Given the description of an element on the screen output the (x, y) to click on. 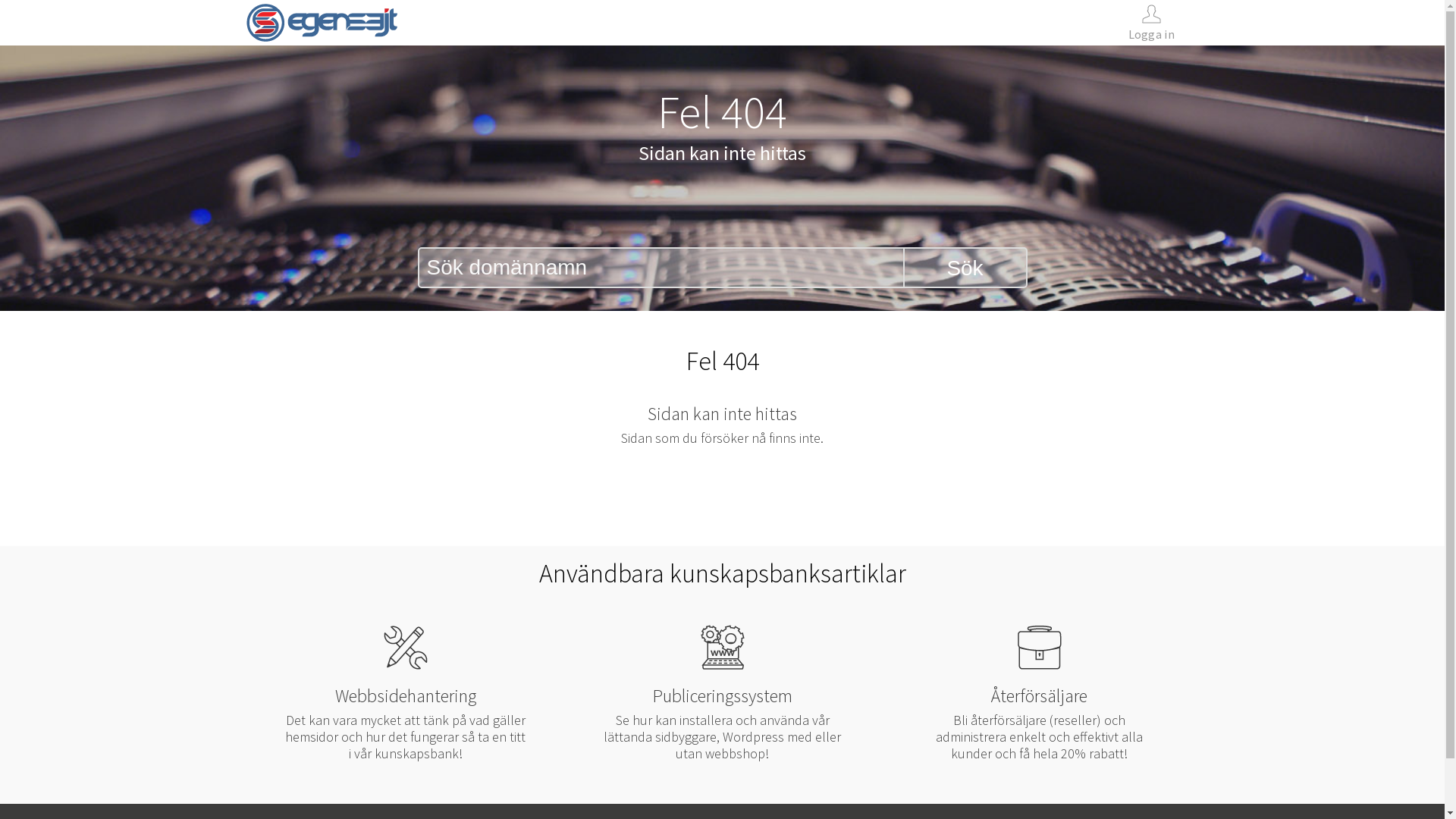
Logga in Element type: text (1151, 22)
